Given the description of an element on the screen output the (x, y) to click on. 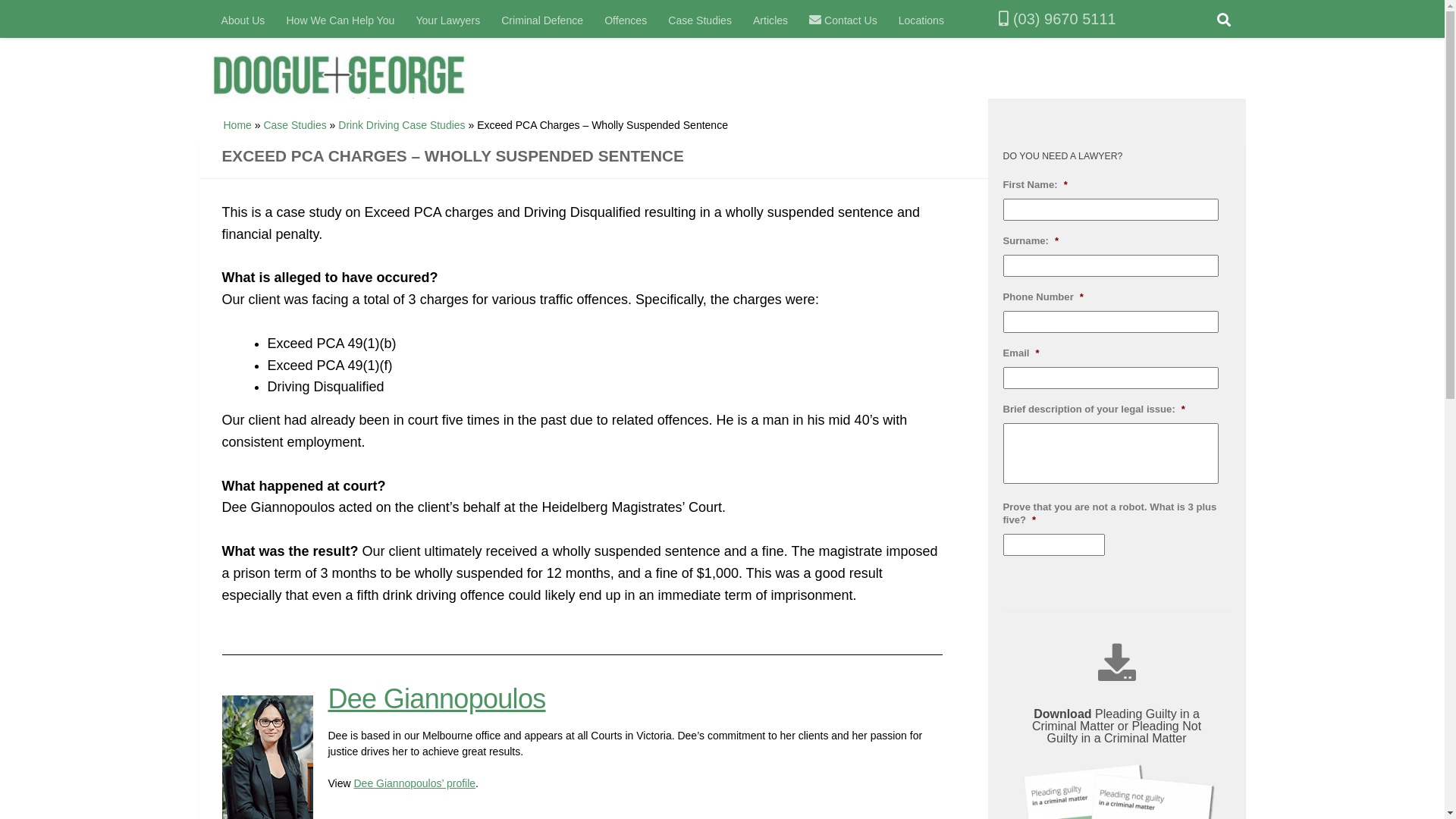
Locations Element type: text (921, 20)
Drink Driving Case Studies Element type: text (401, 125)
Articles Element type: text (770, 20)
Contact Doogue & George Element type: hover (815, 19)
How We Can Help You Element type: text (339, 20)
Dee Giannopoulos Element type: text (436, 698)
Criminal Defence Element type: text (541, 20)
Submit Element type: text (16, 0)
Skip to content Element type: text (58, 20)
Offences Element type: text (625, 20)
Call Doogue & George Element type: hover (1003, 18)
         (03) 9670 5111 Element type: text (1040, 19)
Case Studies Element type: text (699, 20)
Contact Us Element type: text (843, 20)
Case Studies Element type: text (294, 125)
Doogue + George | Home page Element type: hover (354, 81)
Your Lawyers Element type: text (447, 20)
About Us Element type: text (243, 20)
Home Element type: text (236, 125)
